Given the description of an element on the screen output the (x, y) to click on. 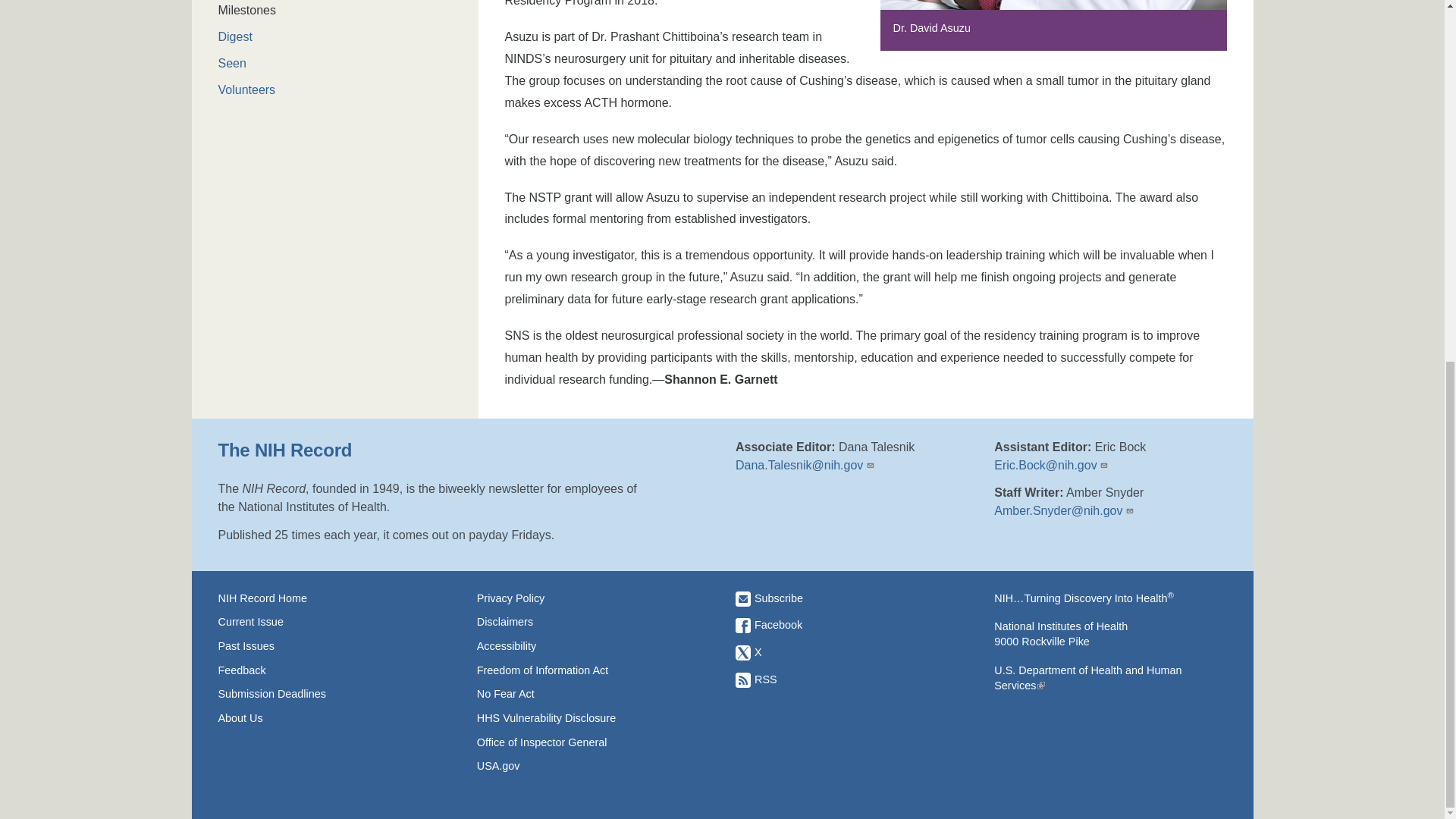
Milestones (334, 10)
Current Issue (333, 621)
Digest (334, 36)
Volunteers (334, 89)
Feedback (333, 670)
NIH Record Home (333, 597)
Past Issues (333, 645)
Seen (334, 63)
